Given the description of an element on the screen output the (x, y) to click on. 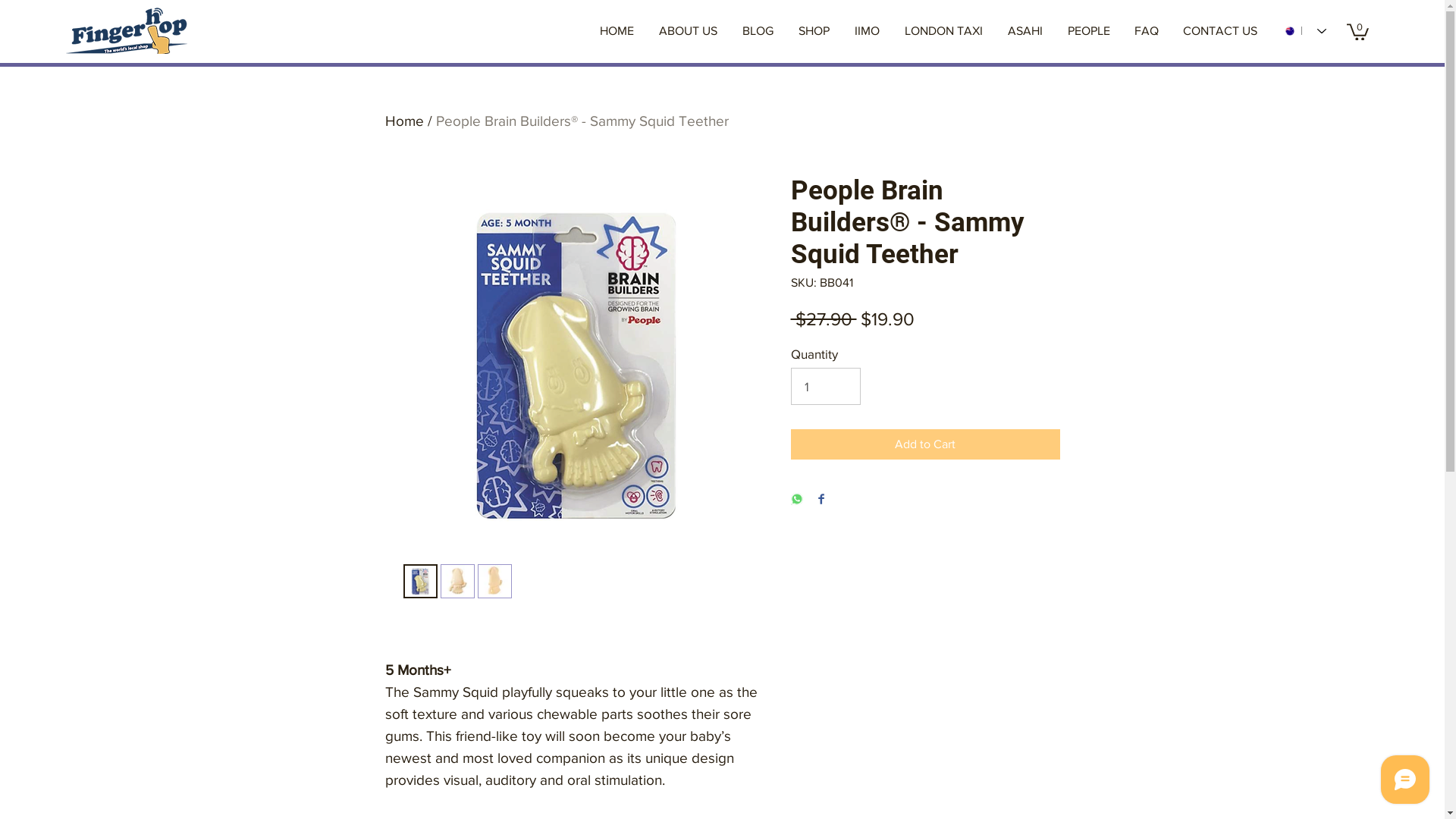
HOME Element type: text (616, 30)
ABOUT US Element type: text (687, 30)
ASAHI Element type: text (1024, 30)
CONTACT US Element type: text (1219, 30)
0 Element type: text (1357, 30)
BLOG Element type: text (757, 30)
Home Element type: text (404, 120)
FAQ Element type: text (1146, 30)
LONDON TAXI Element type: text (942, 30)
Add to Cart Element type: text (924, 444)
SHOP Element type: text (813, 30)
IIMO Element type: text (866, 30)
PEOPLE Element type: text (1088, 30)
